Given the description of an element on the screen output the (x, y) to click on. 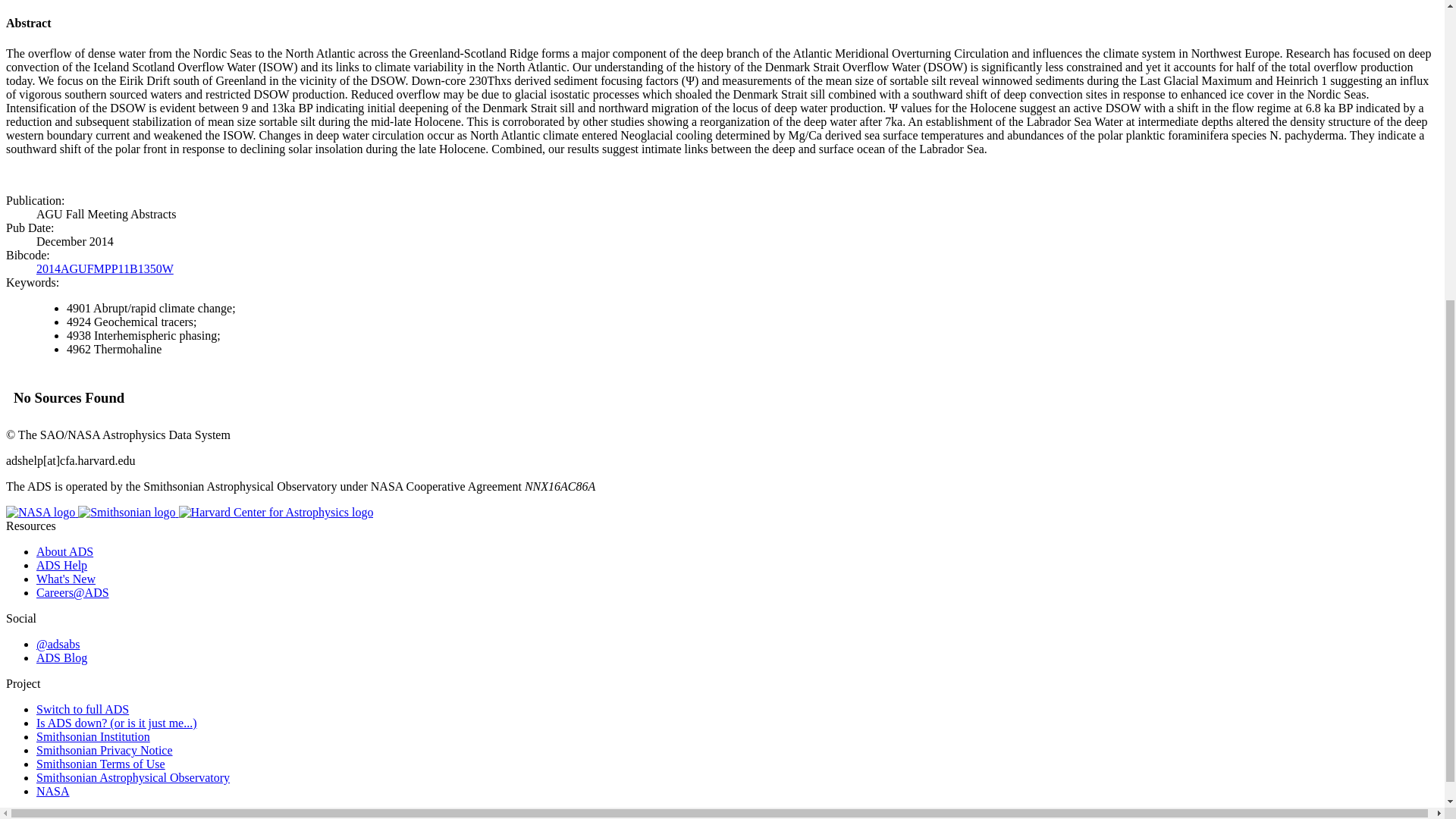
NASA (52, 790)
About ADS (64, 551)
What's New (66, 578)
Switch to full ADS (82, 708)
2014AGUFMPP11B1350W (104, 267)
Smithsonian Institution (92, 736)
Smithsonian Privacy Notice (104, 749)
ADS Blog (61, 657)
Smithsonian Astrophysical Observatory (133, 777)
ADS Help (61, 564)
